Given the description of an element on the screen output the (x, y) to click on. 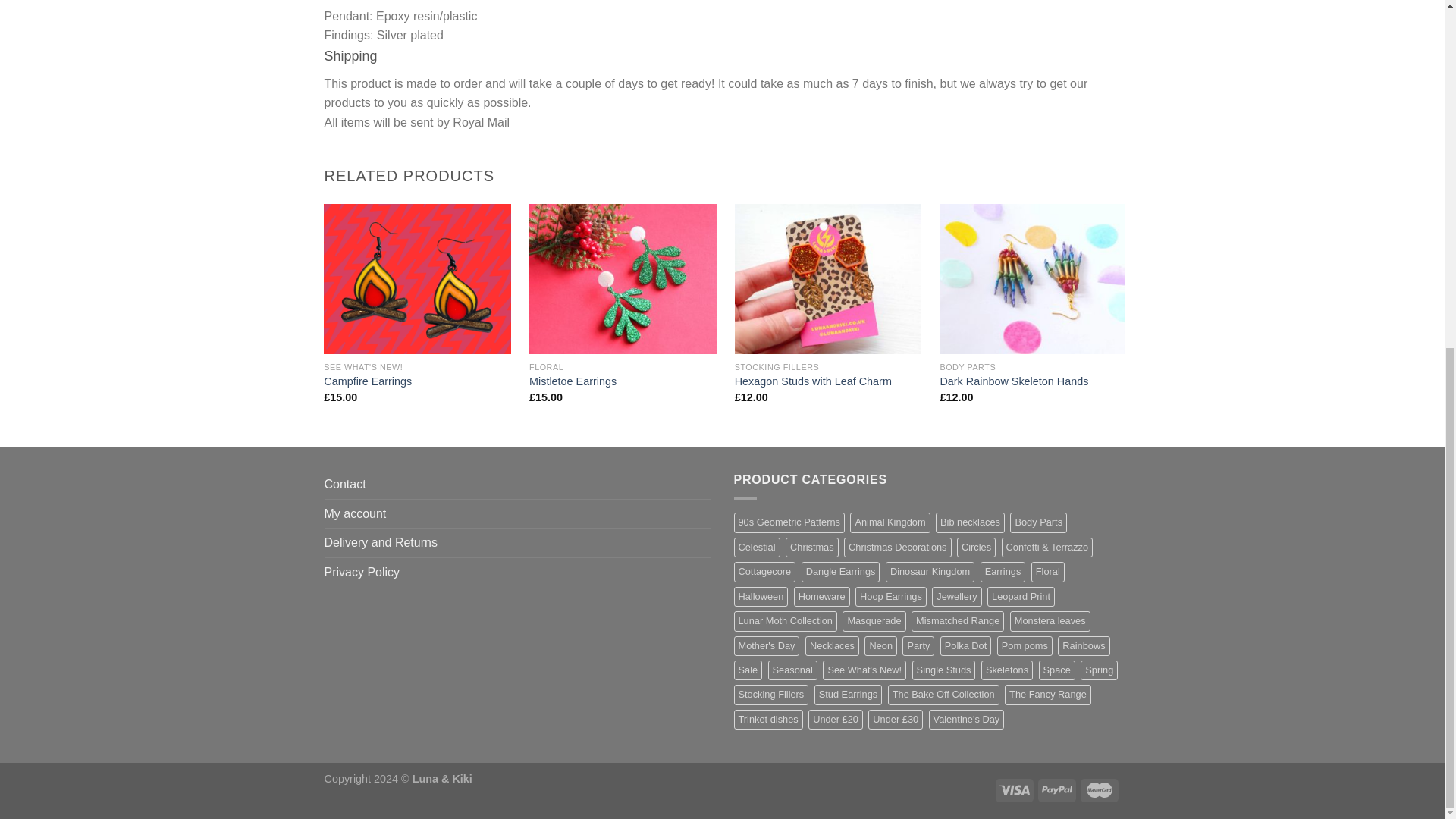
Campfire Earrings (367, 381)
Submit (387, 576)
